Given the description of an element on the screen output the (x, y) to click on. 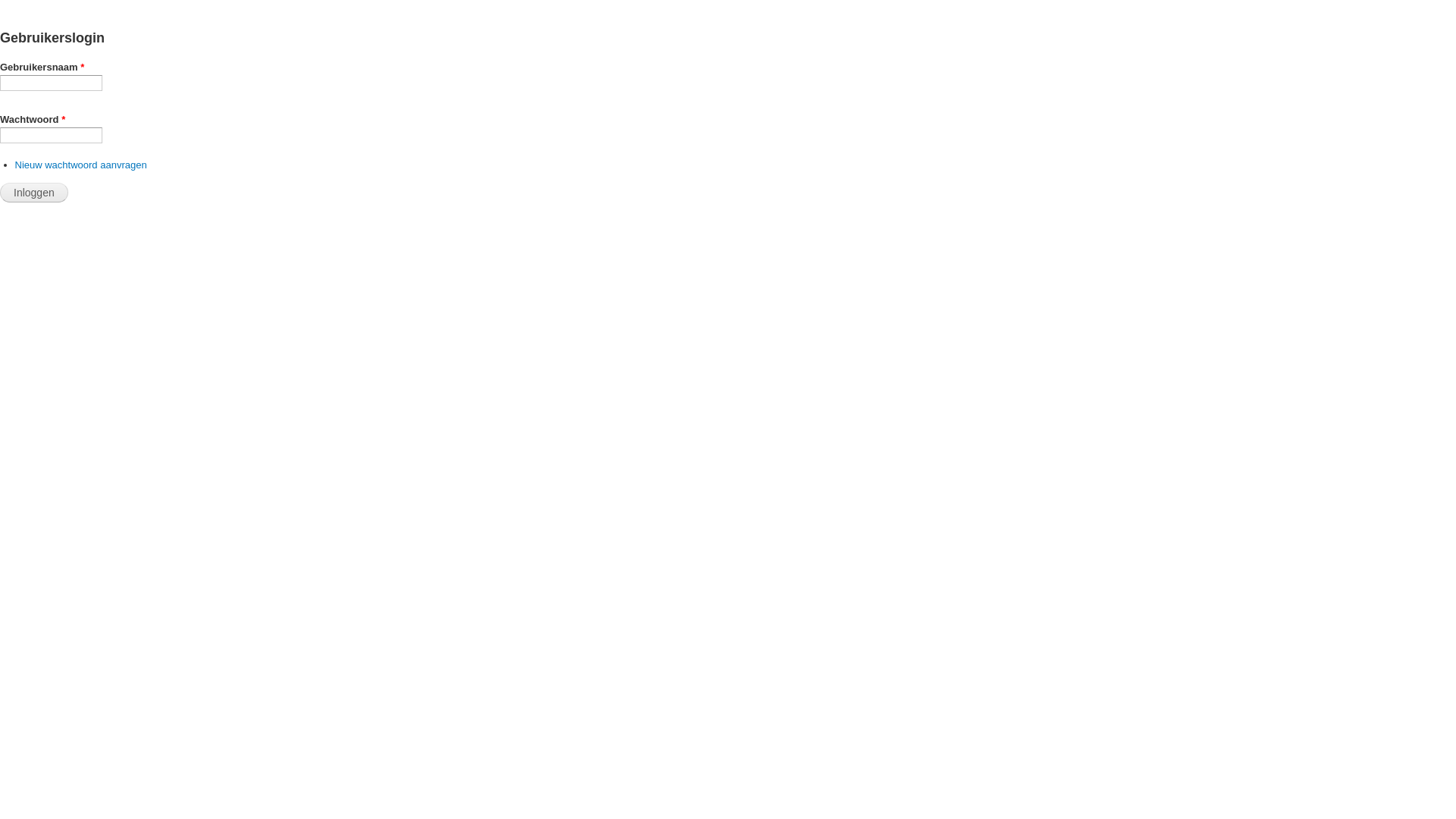
Nieuw wachtwoord aanvragen Element type: text (81, 164)
Inloggen Element type: text (34, 192)
Overslaan en naar de algemene inhoud gaan Element type: text (705, 16)
